Given the description of an element on the screen output the (x, y) to click on. 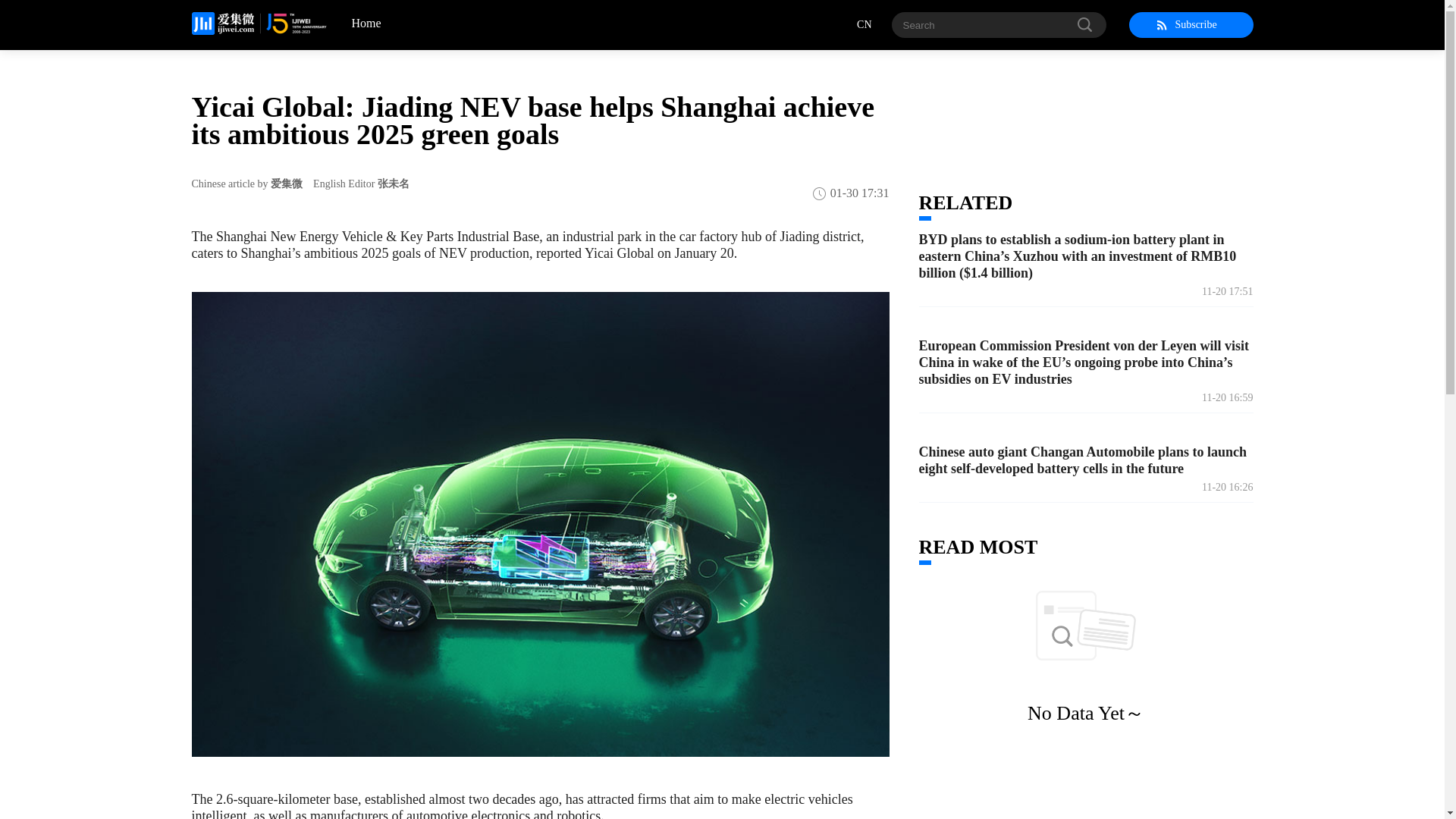
Home (353, 24)
CN (874, 24)
Subscribe (1190, 24)
